Given the description of an element on the screen output the (x, y) to click on. 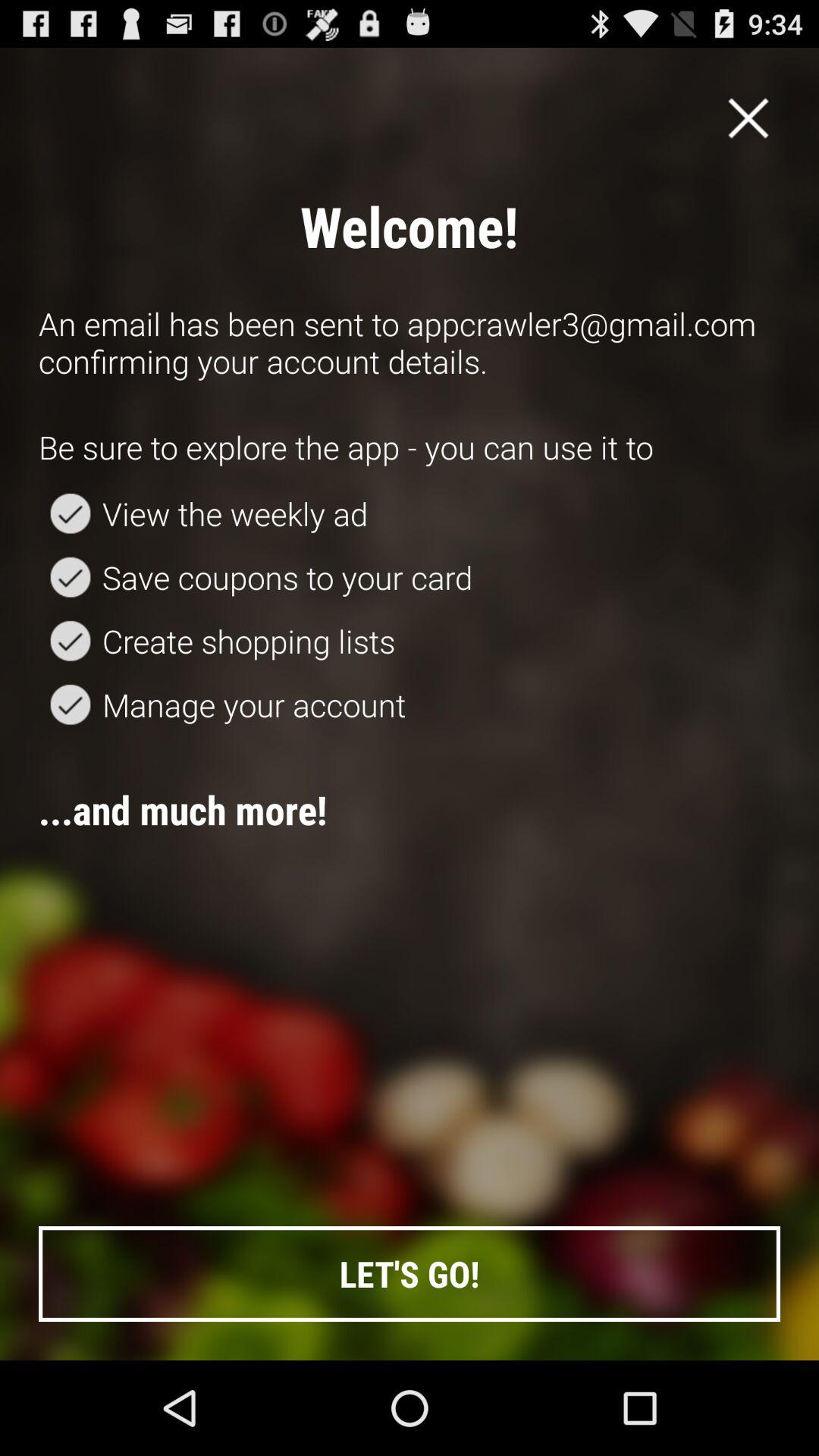
close window (748, 118)
